Given the description of an element on the screen output the (x, y) to click on. 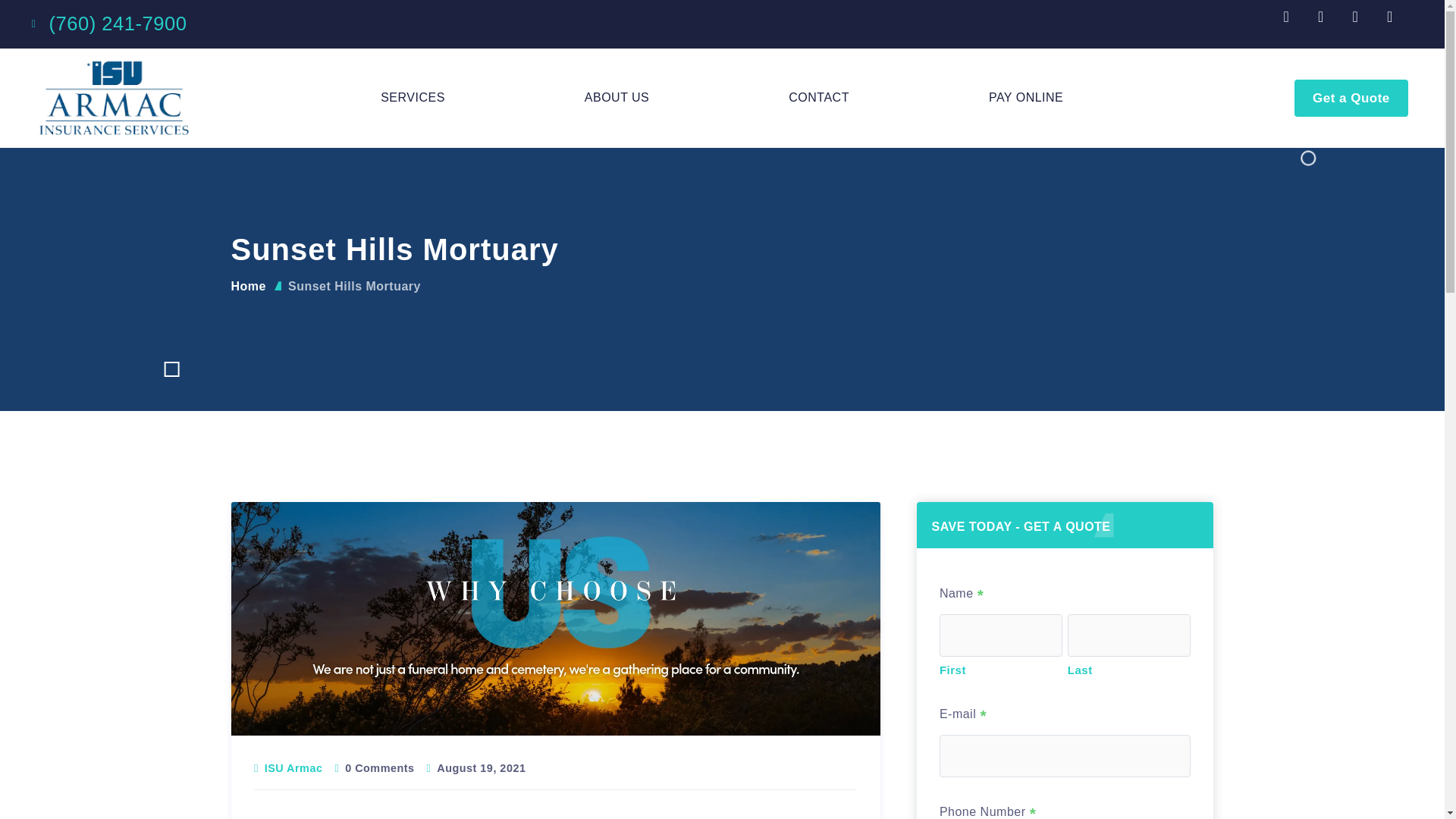
Call Us! (117, 23)
PAY ONLINE (1025, 97)
SERVICES (413, 97)
Posts by ISU Armac (293, 767)
Get a Quote (1350, 98)
CONTACT (818, 97)
ABOUT US (617, 97)
ISU Armac (293, 767)
Home (247, 286)
